Given the description of an element on the screen output the (x, y) to click on. 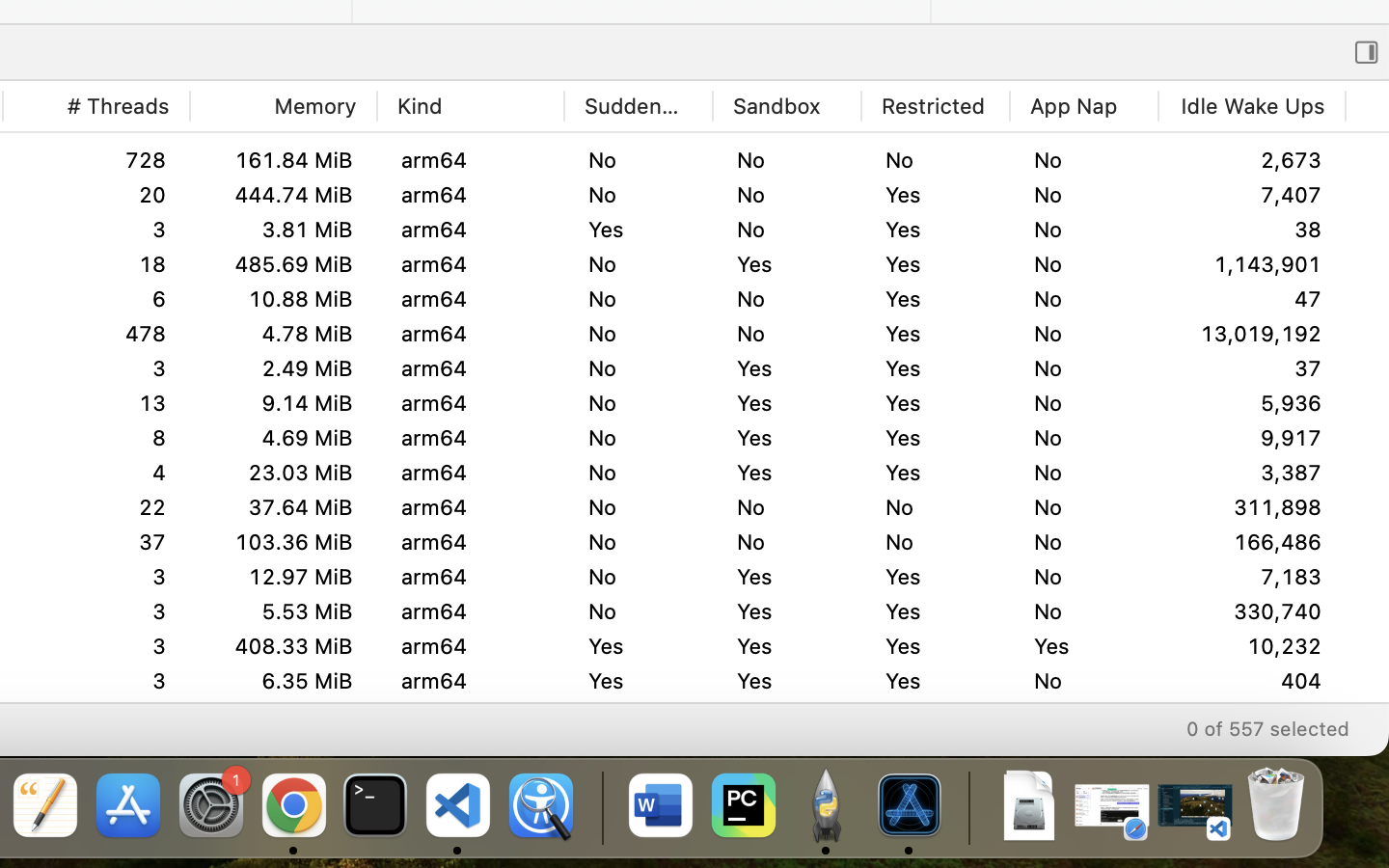
arm64 Element type: AXStaticText (470, 437)
4 Element type: AXStaticText (96, 333)
4.70 MiB Element type: AXStaticText (283, 715)
19 Element type: AXStaticText (96, 263)
21 Element type: AXStaticText (1251, 298)
